Given the description of an element on the screen output the (x, y) to click on. 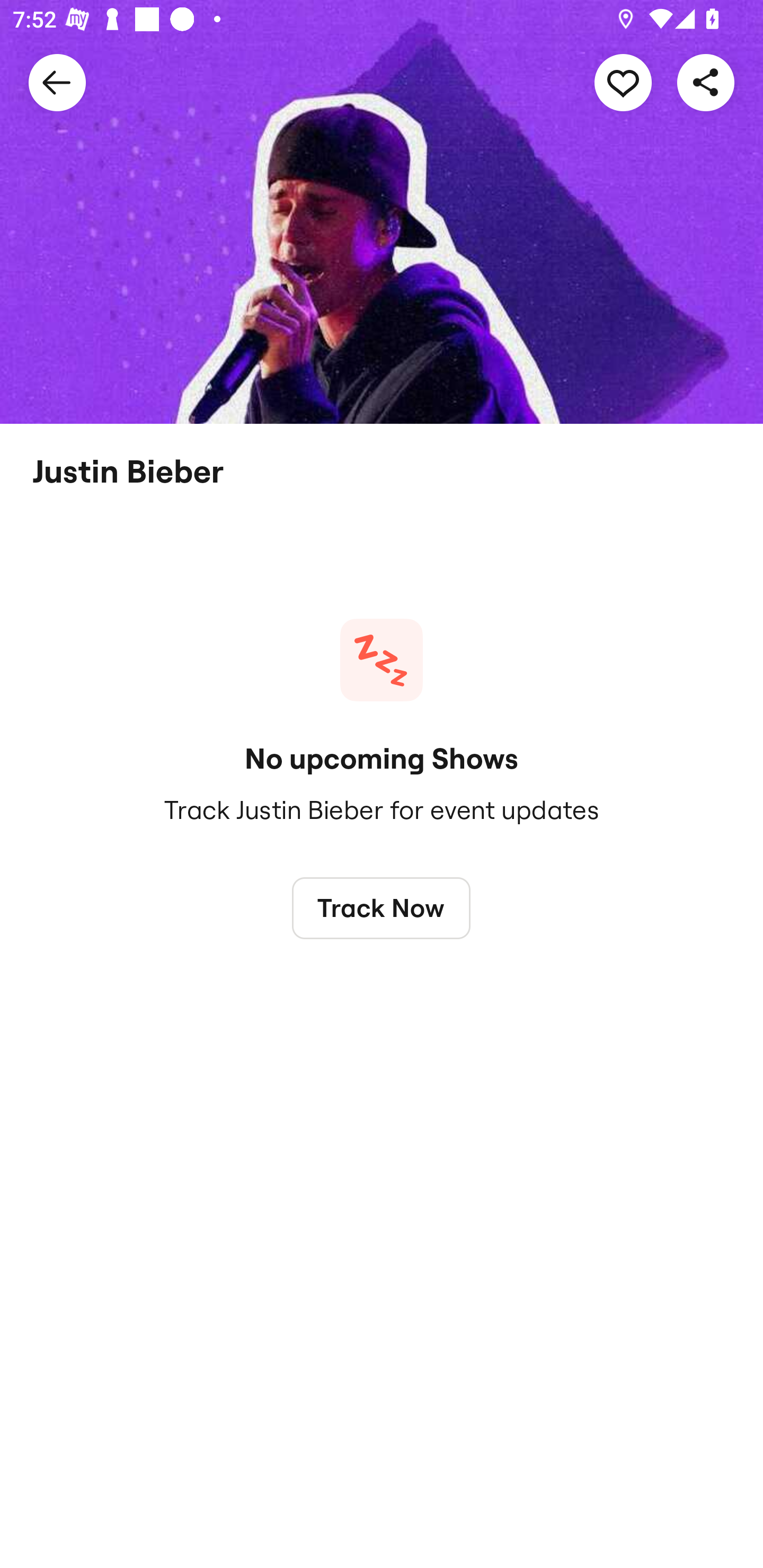
Back (57, 81)
Track this performer (623, 81)
Share this performer (705, 81)
Track Now (381, 907)
